Given the description of an element on the screen output the (x, y) to click on. 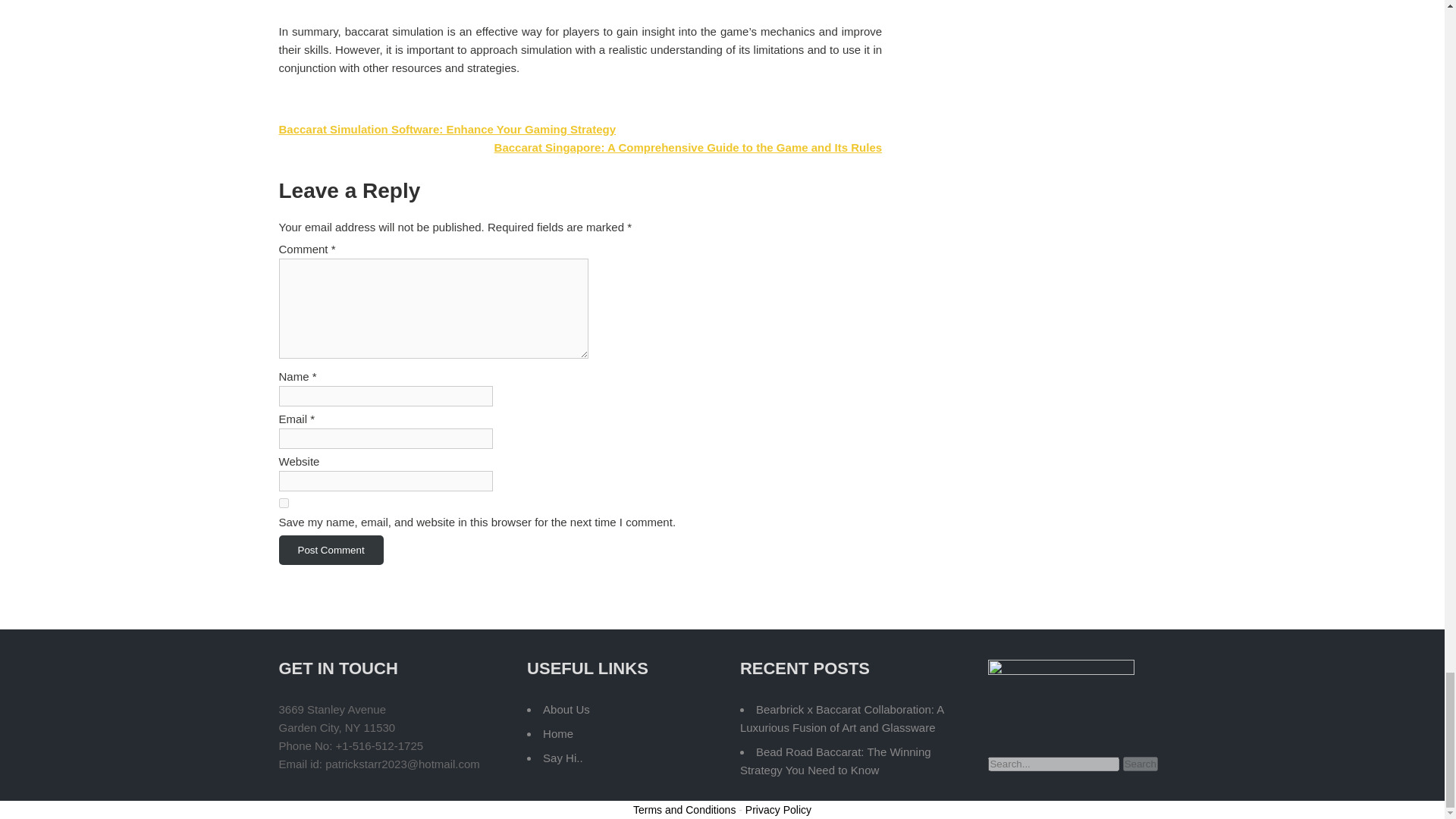
Search (1139, 763)
About Us (566, 708)
Search (1139, 763)
Post Comment (331, 550)
Post Comment (331, 550)
Terms and Conditions (684, 809)
Home (558, 733)
Say Hi.. (563, 757)
Bead Road Baccarat: The Winning Strategy You Need to Know (835, 760)
Privacy Policy (777, 809)
yes (283, 502)
Search (1139, 763)
Baccarat Simulation Software: Enhance Your Gaming Strategy (447, 128)
